Given the description of an element on the screen output the (x, y) to click on. 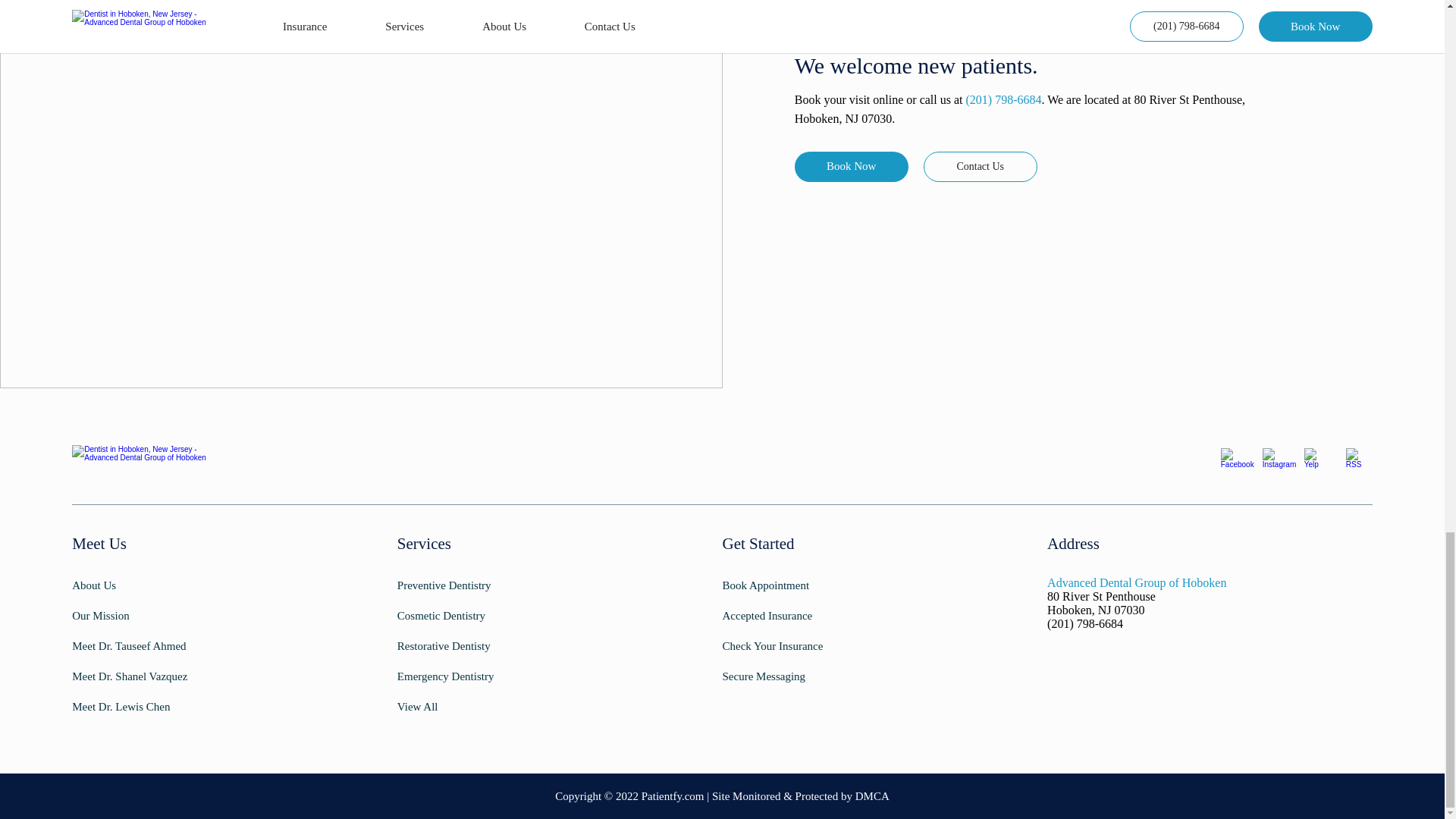
View All (472, 706)
Check Your Insurance (798, 646)
Meet Dr. Shanel Vazquez (147, 676)
Cosmetic Dentistry (472, 615)
Secure Messaging (798, 676)
Contact Us (979, 166)
About Us (147, 585)
Restorative Dentisty (472, 646)
Preventive Dentistry (472, 585)
Meet Dr. Lewis Chen (147, 706)
